Given the description of an element on the screen output the (x, y) to click on. 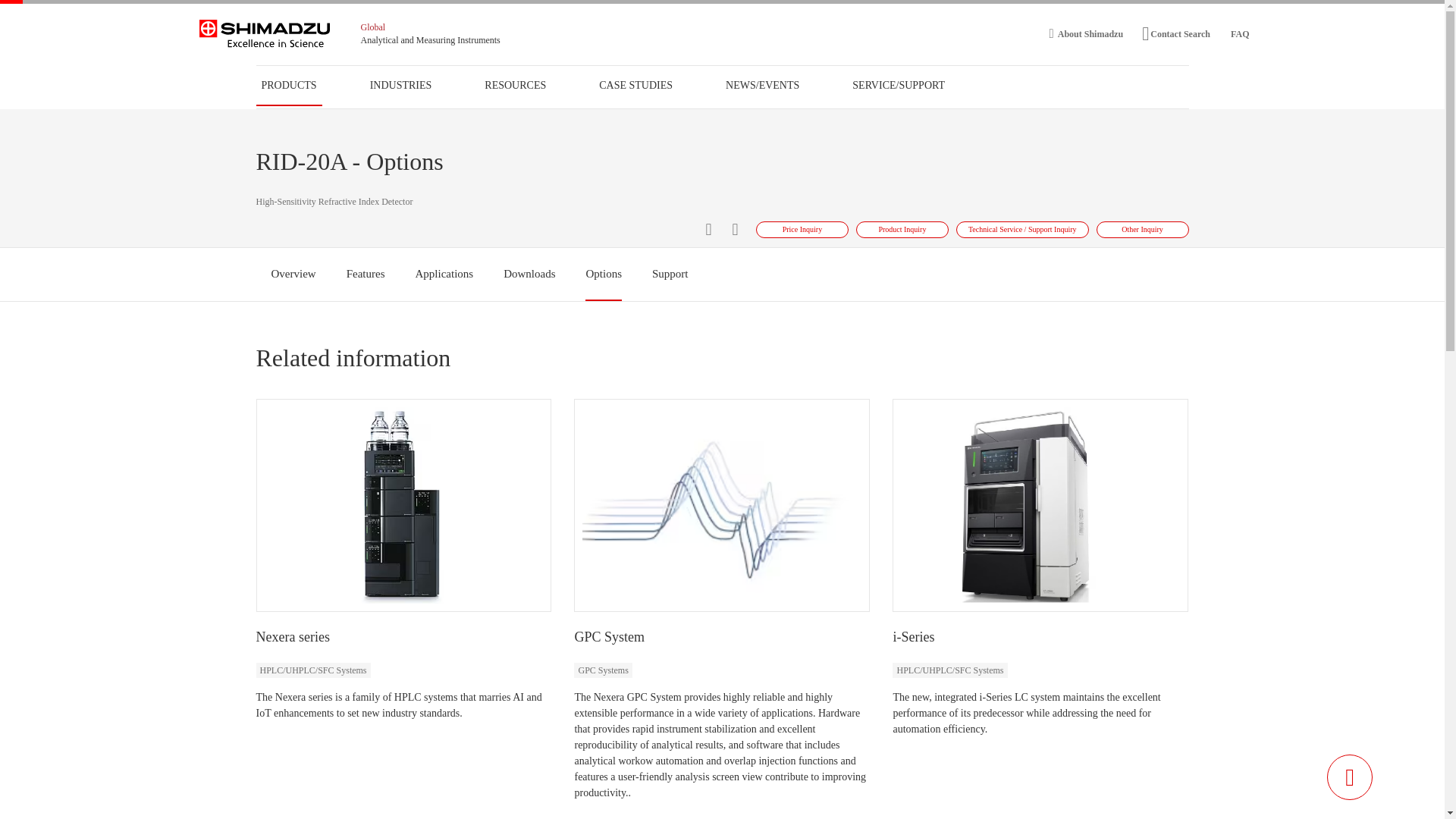
i-Series (913, 637)
GPC System (609, 637)
Global (373, 26)
FAQ (1238, 33)
CASE STUDIES (635, 84)
Product Inquiry (902, 229)
Applications (443, 273)
About Shimadzu (1086, 33)
Nexera series (293, 637)
Analytical and Measuring Instruments (430, 40)
INDUSTRIES (400, 84)
Other Inquiry (1142, 229)
Price Inquiry (801, 229)
Contact Search (1175, 33)
Downloads (528, 273)
